Given the description of an element on the screen output the (x, y) to click on. 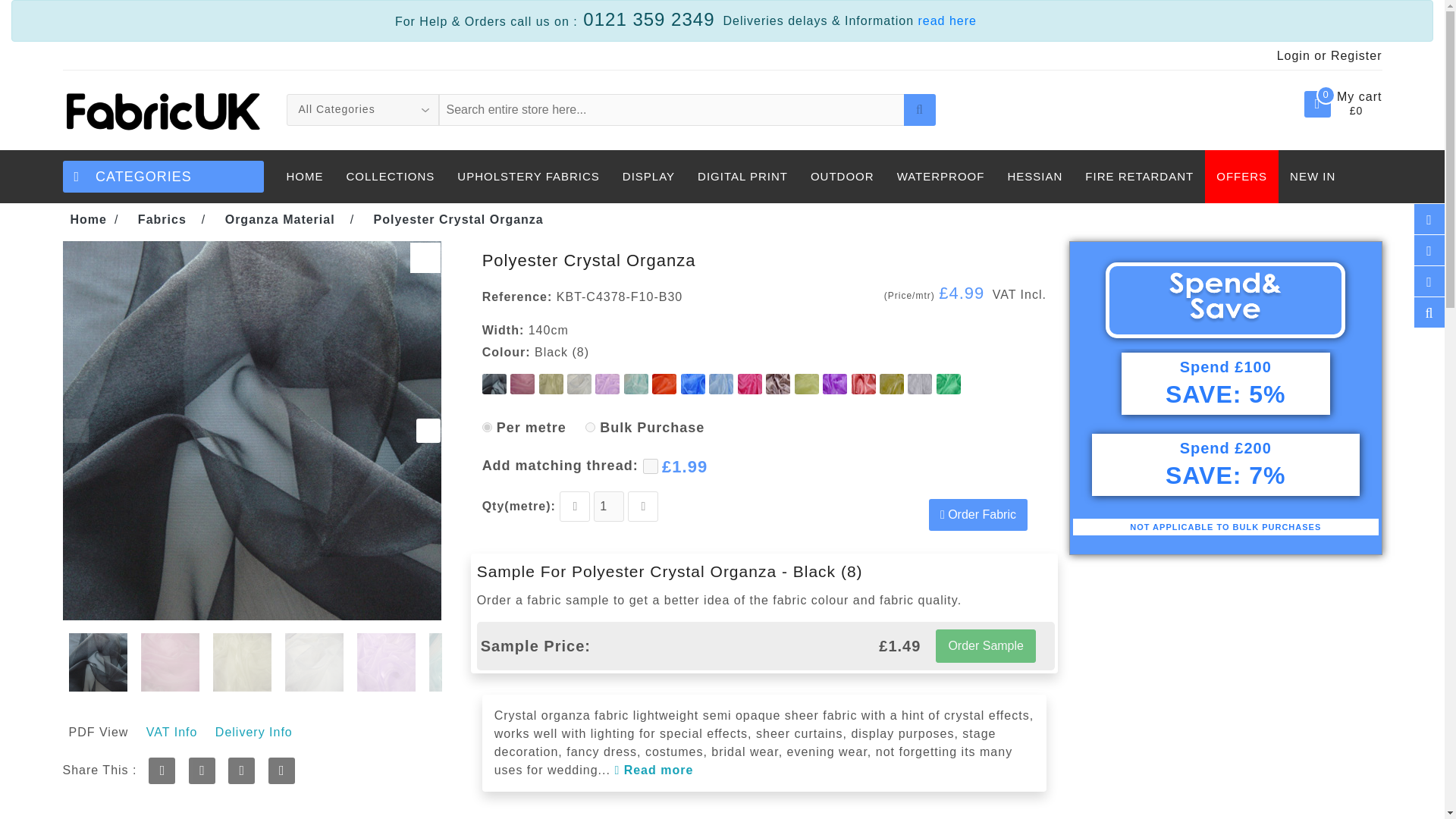
no (486, 427)
Login (1293, 55)
1 (650, 466)
CATEGORIES (162, 176)
register (1355, 55)
Register (1355, 55)
1 (609, 506)
OFFERS (1241, 176)
read here (946, 19)
COLLECTIONS (390, 176)
yes (590, 427)
sign in (1293, 55)
